Given the description of an element on the screen output the (x, y) to click on. 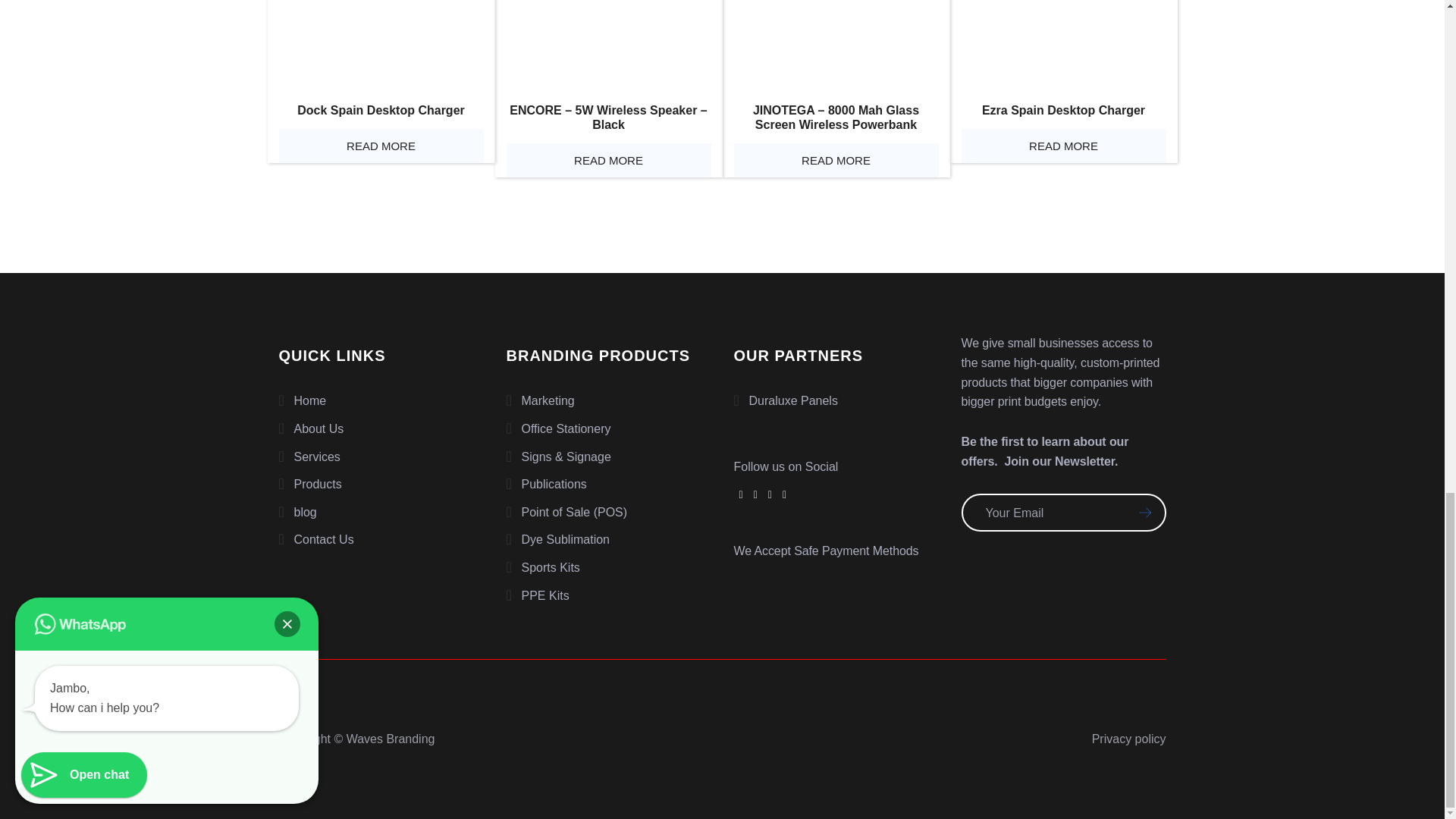
Dock Spain Desktop Charger (381, 44)
ENCORE - 5W Wireless Speaker - Black (608, 44)
Ezra Spain Desktop Charger (1063, 44)
Join (1139, 512)
JINOTEGA - 8000 Mah Glass Screen Wireless Powerbank (836, 44)
